Given the description of an element on the screen output the (x, y) to click on. 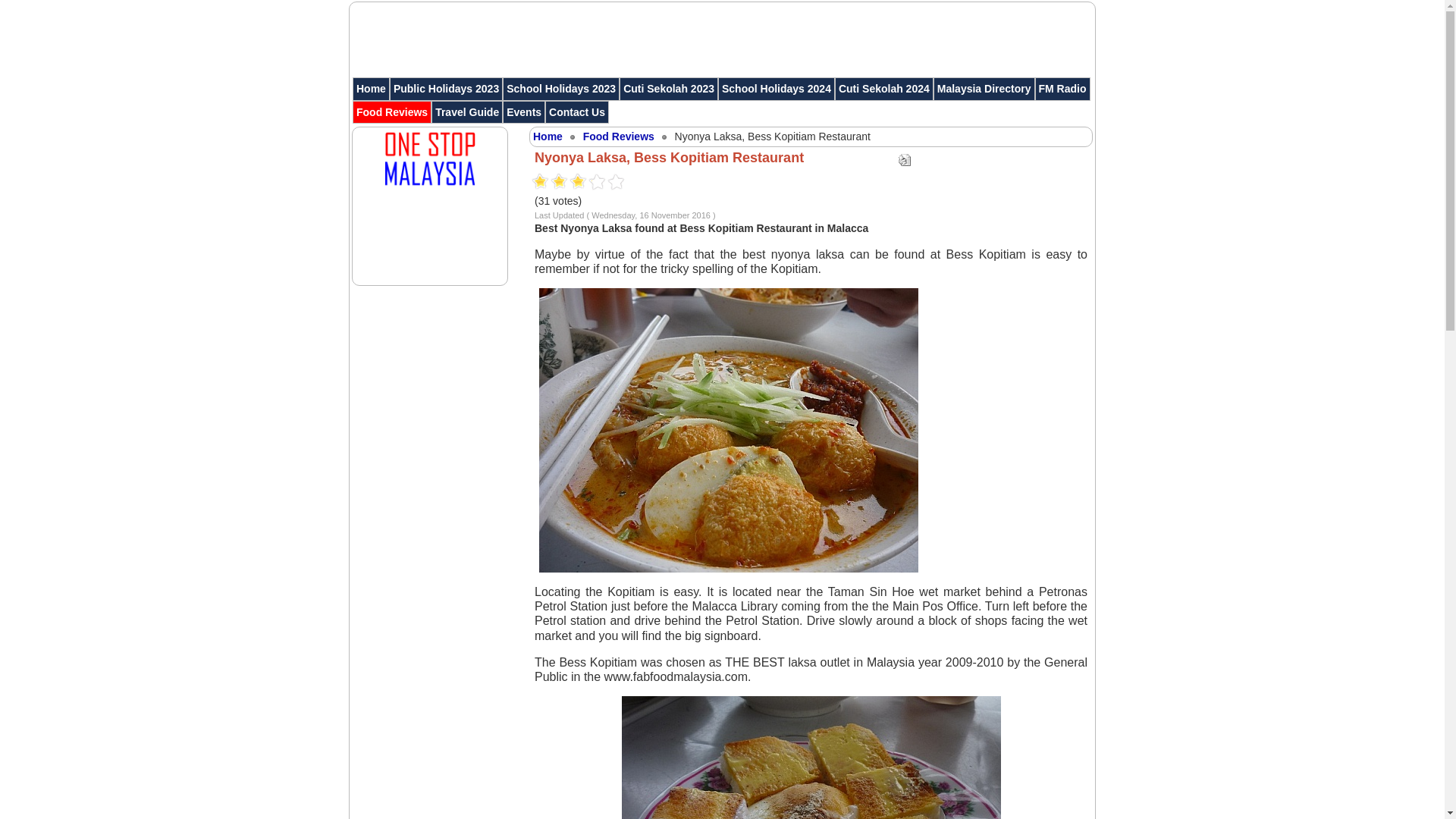
School Holidays 2024 (775, 87)
Cuti Sekolah 2024 (883, 87)
Public Holidays 2023 (446, 87)
5 stars out of 5 (578, 181)
Home (371, 87)
Food Reviews (391, 111)
Cuti Sekolah 2023 (668, 87)
4 stars out of 5 (569, 181)
Malaysia Directory (984, 87)
FM Radio (1061, 87)
